Given the description of an element on the screen output the (x, y) to click on. 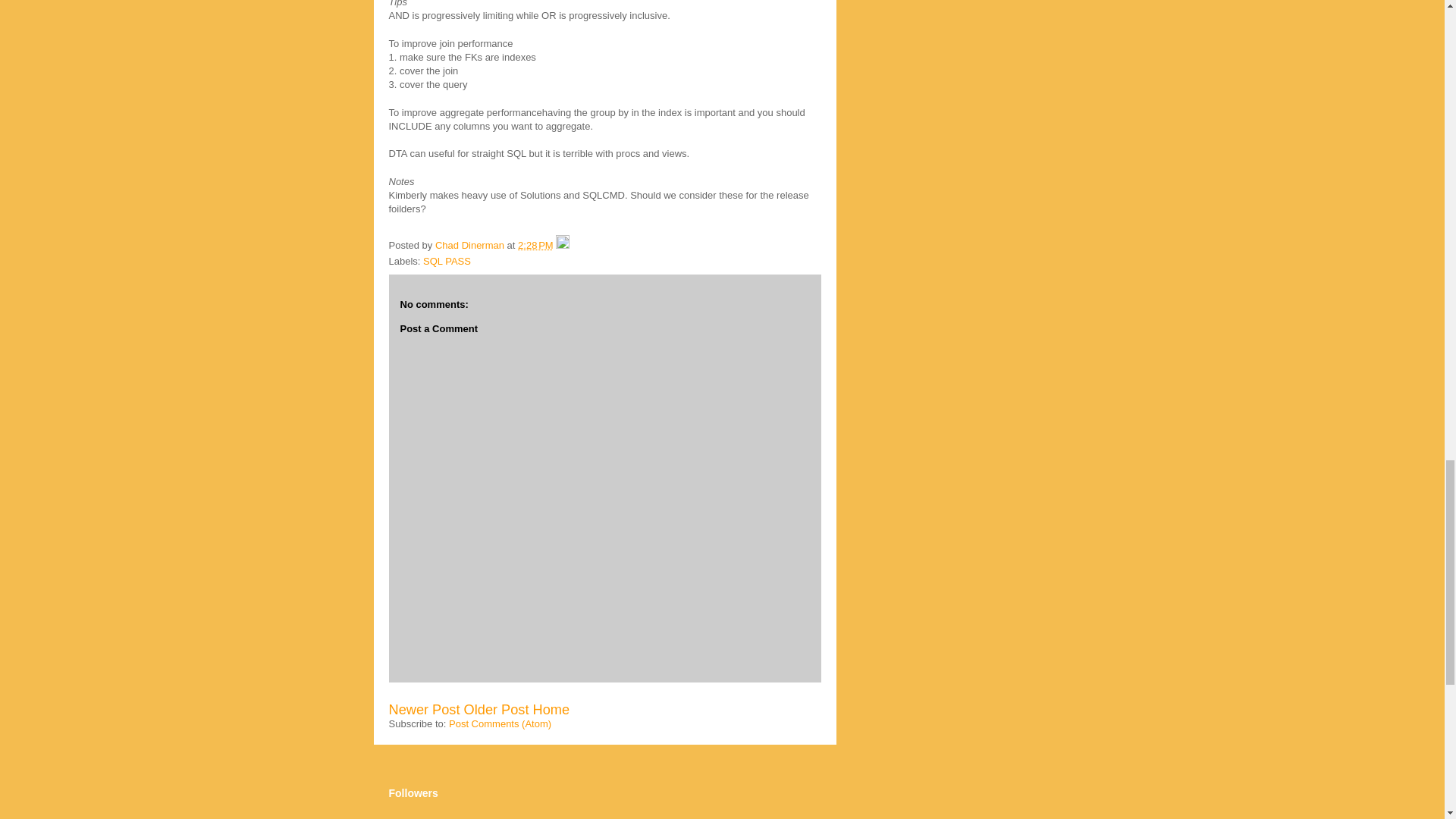
author profile (470, 244)
permanent link (535, 244)
Older Post (496, 709)
Chad Dinerman (470, 244)
Edit Post (562, 244)
Home (551, 709)
Newer Post (424, 709)
Older Post (496, 709)
SQL PASS (446, 260)
Newer Post (424, 709)
